Given the description of an element on the screen output the (x, y) to click on. 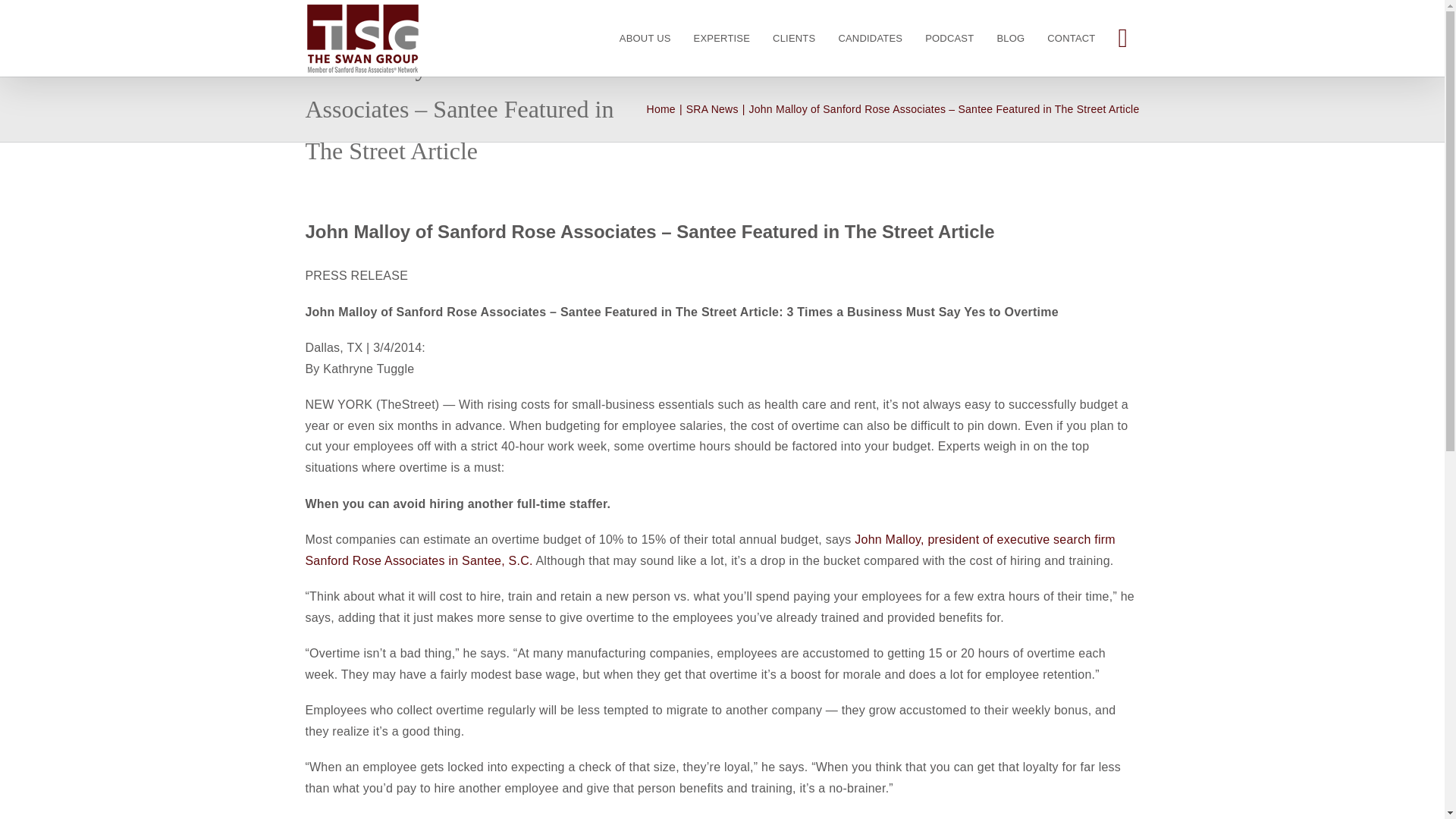
Home (660, 109)
CANDIDATES (870, 38)
ABOUT US (645, 38)
EXPERTISE (721, 38)
CONTACT (1070, 38)
PODCAST (949, 38)
SRA News (711, 109)
